Given the description of an element on the screen output the (x, y) to click on. 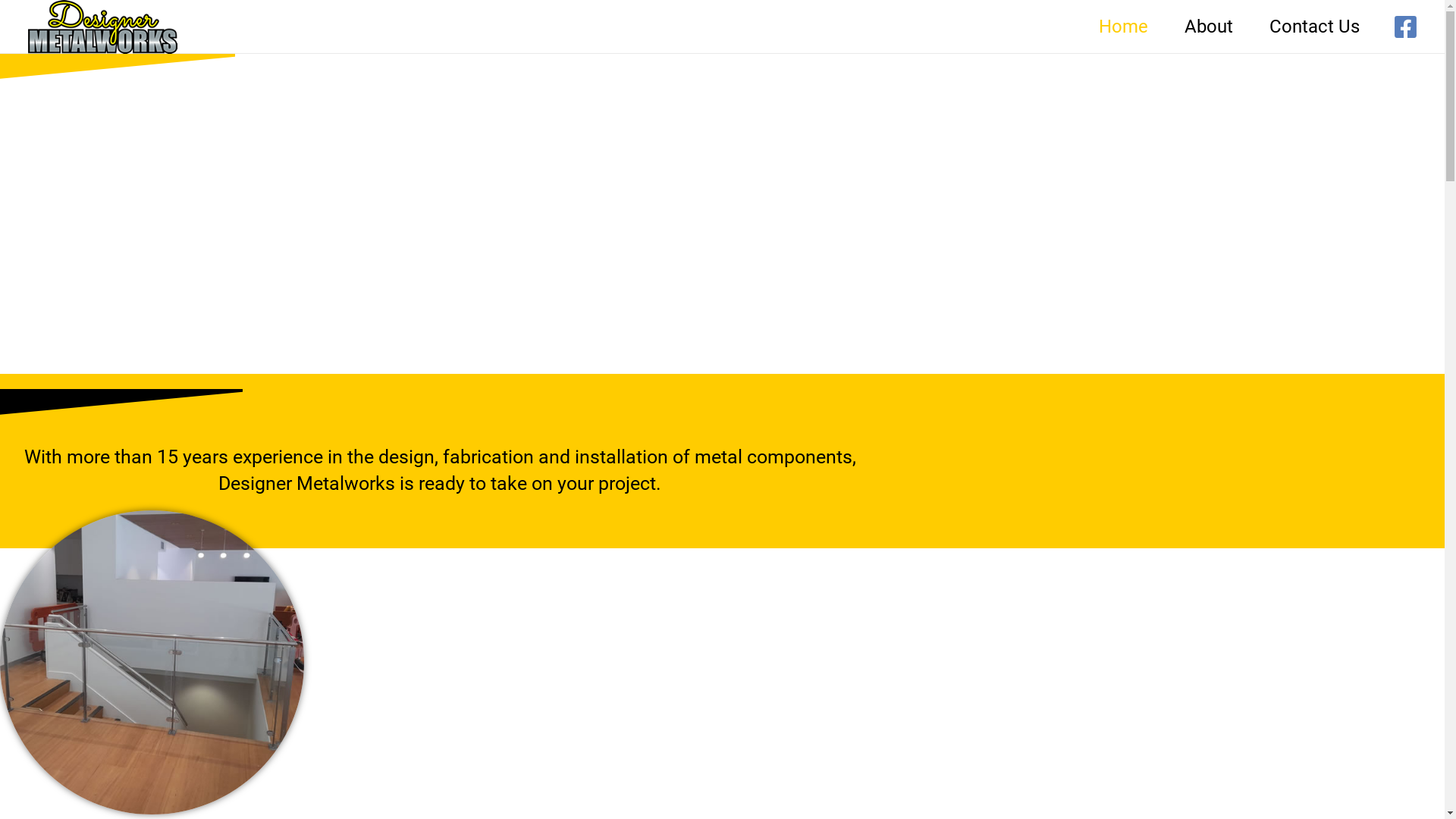
Home Element type: text (1123, 26)
Contact Us Element type: text (1314, 26)
About Element type: text (1208, 26)
